Given the description of an element on the screen output the (x, y) to click on. 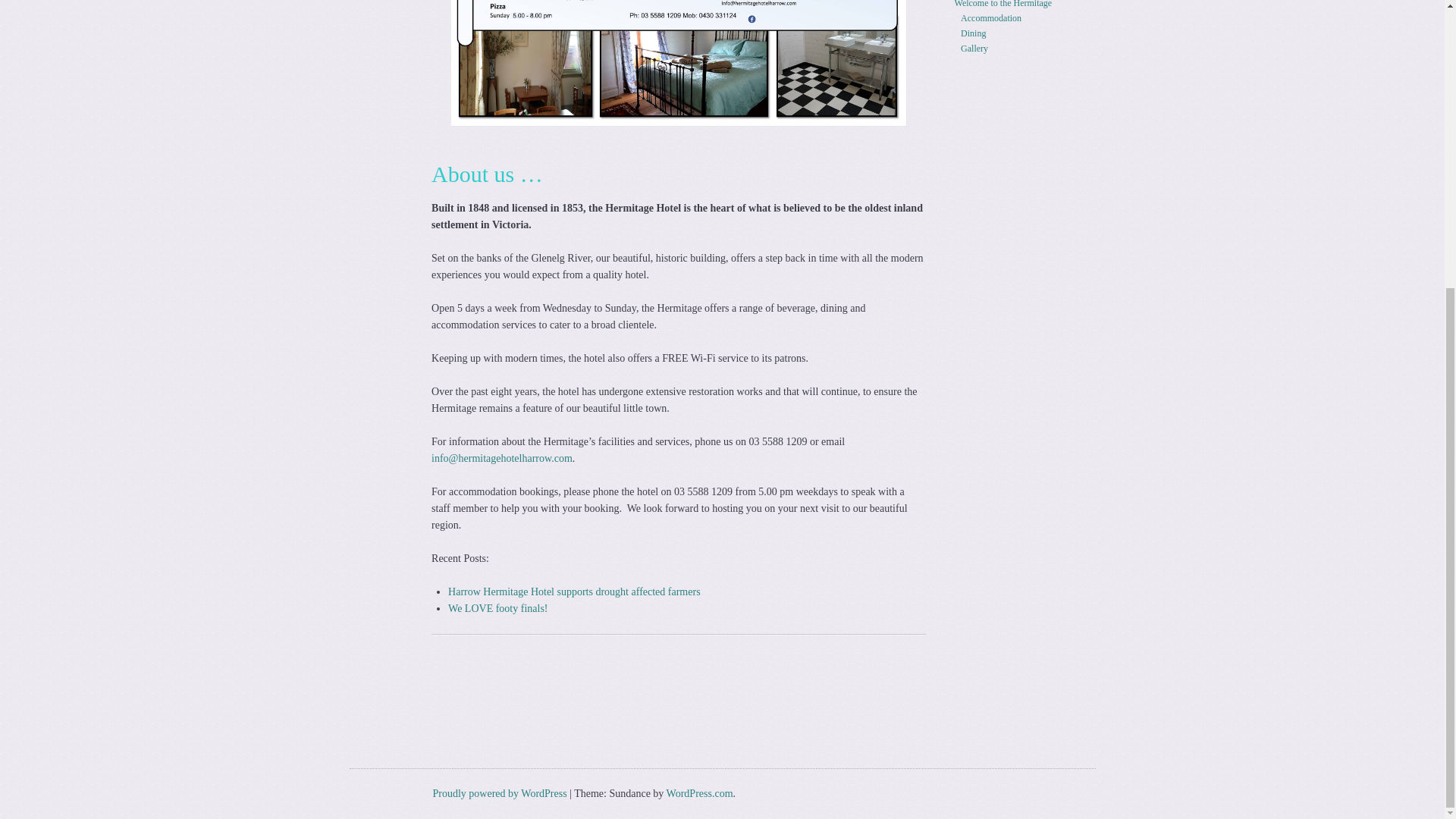
We LOVE footy finals! (497, 608)
Accommodation (991, 18)
Harrow Hermitage Hotel supports drought affected farmers (574, 591)
Dining (972, 32)
Proudly powered by WordPress (499, 793)
WordPress.com (699, 793)
A Semantic Personal Publishing Platform (499, 793)
Gallery (974, 48)
Welcome to the Hermitage (1003, 4)
